Given the description of an element on the screen output the (x, y) to click on. 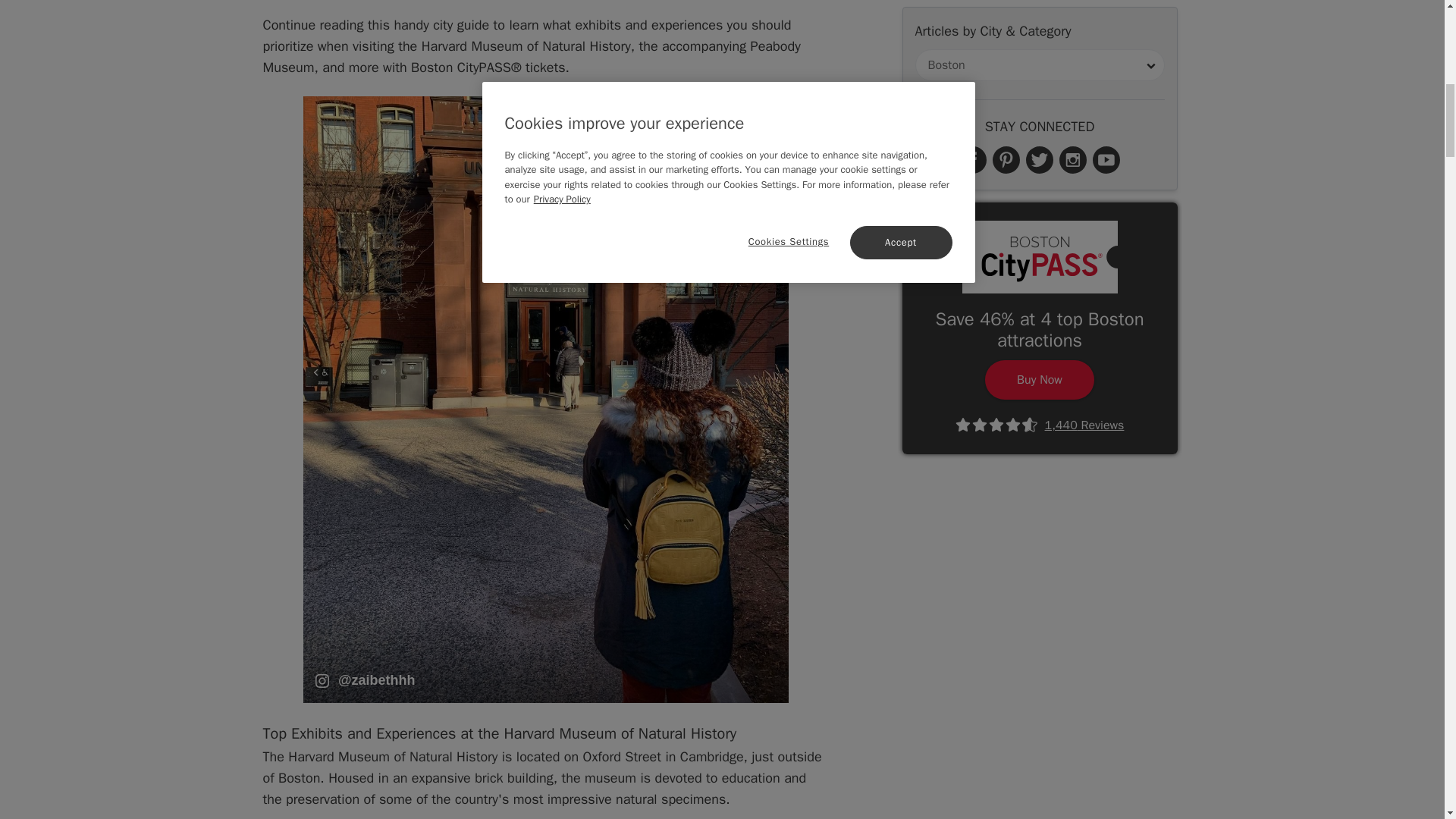
1,440 Reviews (1039, 60)
Buy Now (1039, 18)
Boston CityPASS Reviews (1039, 60)
Buy Now (1039, 18)
